Given the description of an element on the screen output the (x, y) to click on. 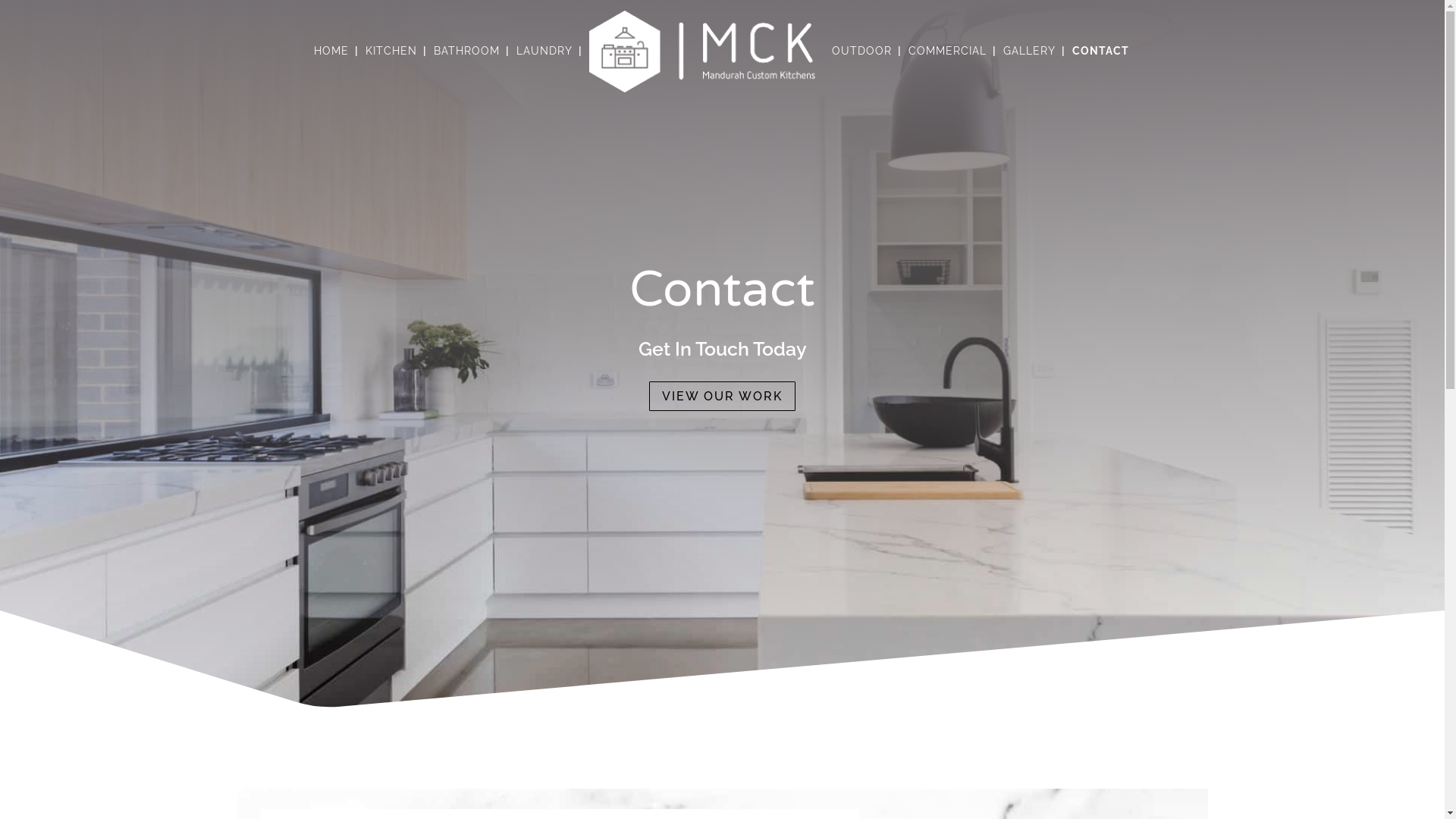
GALLERY Element type: text (1029, 68)
KITCHEN Element type: text (391, 68)
BATHROOM Element type: text (466, 68)
CONTACT Element type: text (1100, 68)
VIEW OUR WORK Element type: text (722, 396)
HOME Element type: text (330, 68)
COMMERCIAL Element type: text (947, 68)
OUTDOOR Element type: text (861, 68)
LAUNDRY Element type: text (544, 68)
